Given the description of an element on the screen output the (x, y) to click on. 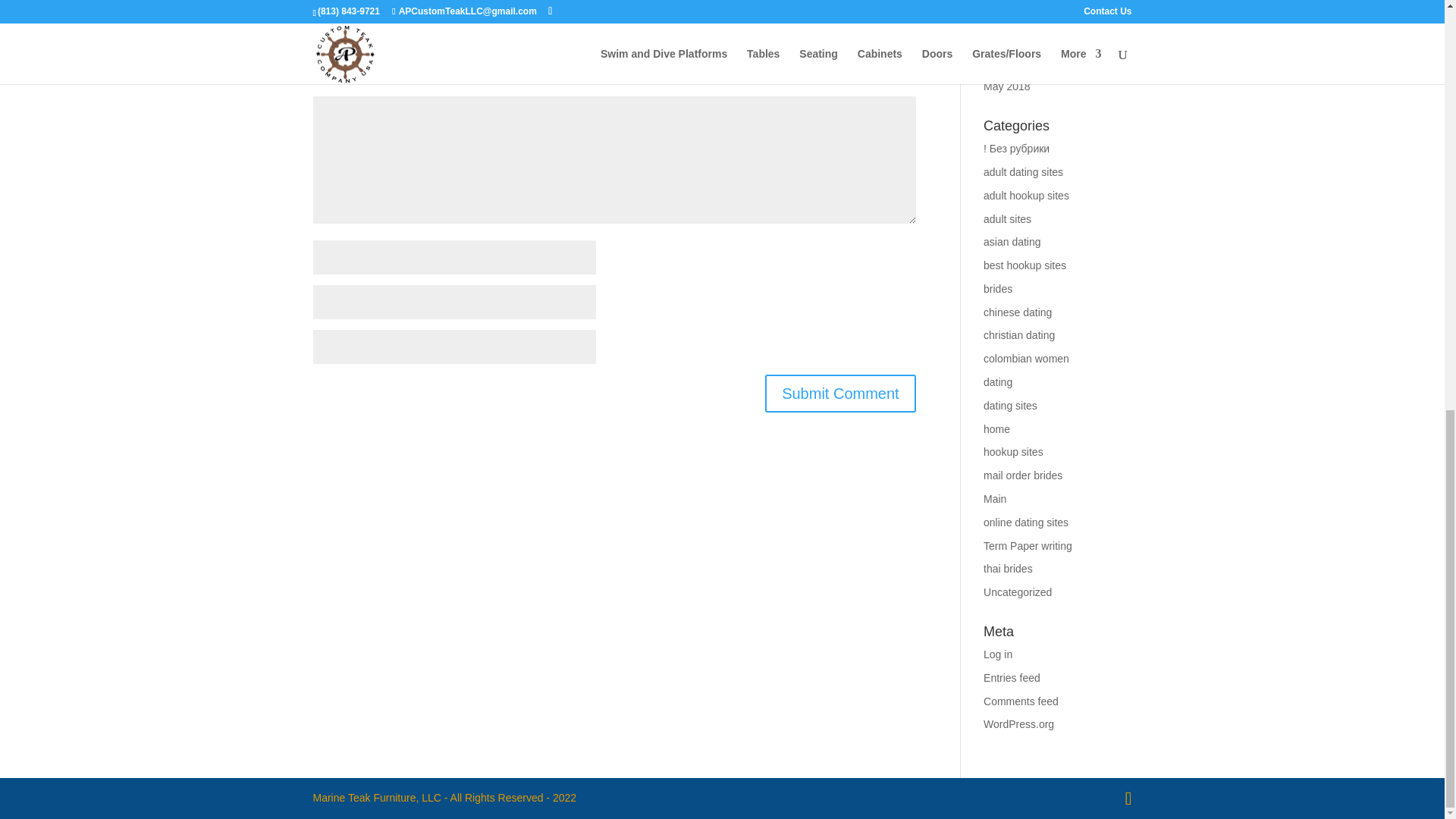
Submit Comment (840, 393)
Submit Comment (840, 393)
